Given the description of an element on the screen output the (x, y) to click on. 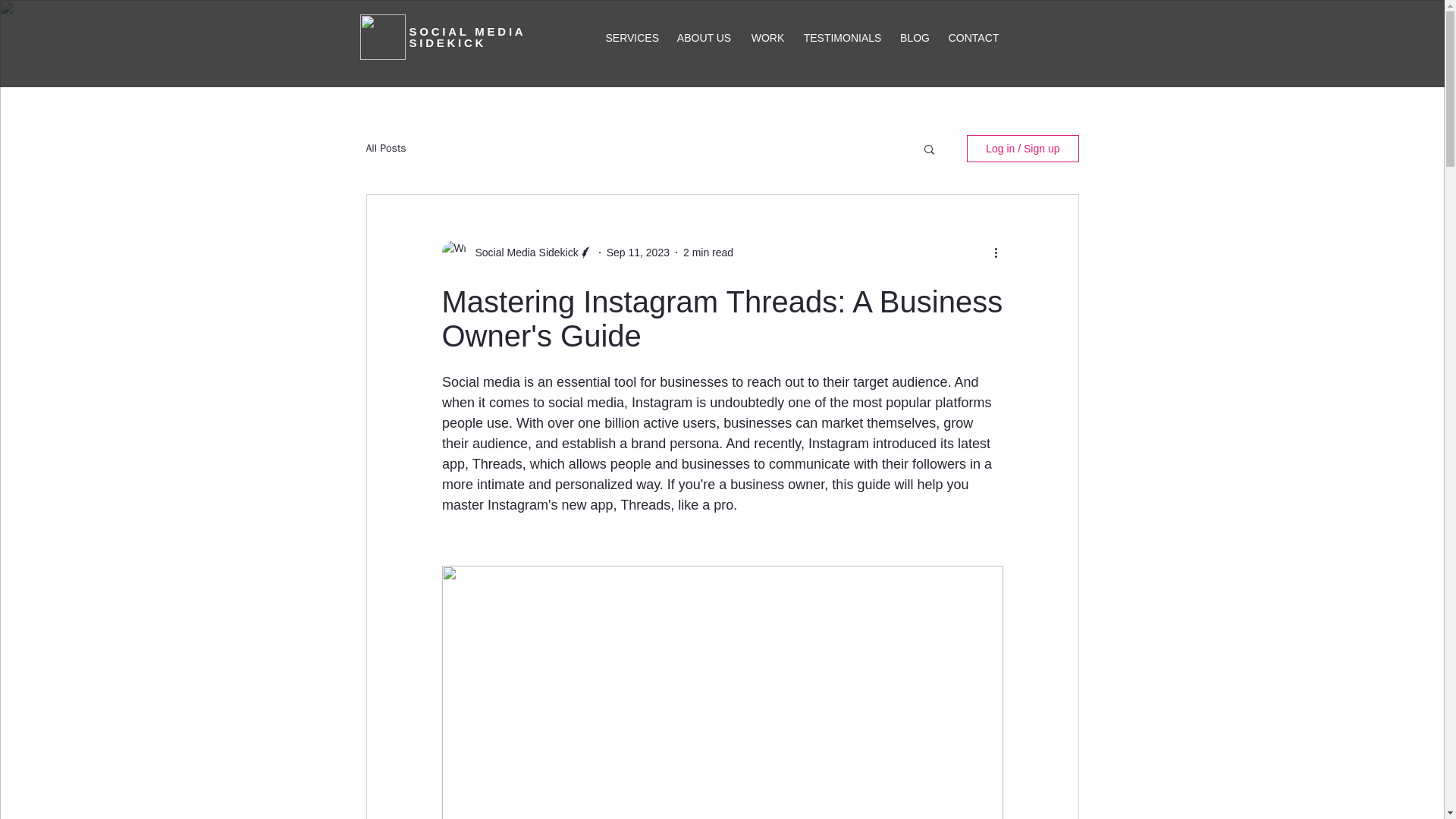
SOCIAL MEDIA SIDEKICK (467, 37)
SERVICES (631, 37)
TESTIMONIALS (842, 37)
WORK (767, 37)
SMSK 2023 Logo Icon.png (381, 36)
Sep 11, 2023 (638, 251)
CONTACT (973, 37)
BLOG (914, 37)
All Posts (385, 148)
2 min read (707, 251)
